Given the description of an element on the screen output the (x, y) to click on. 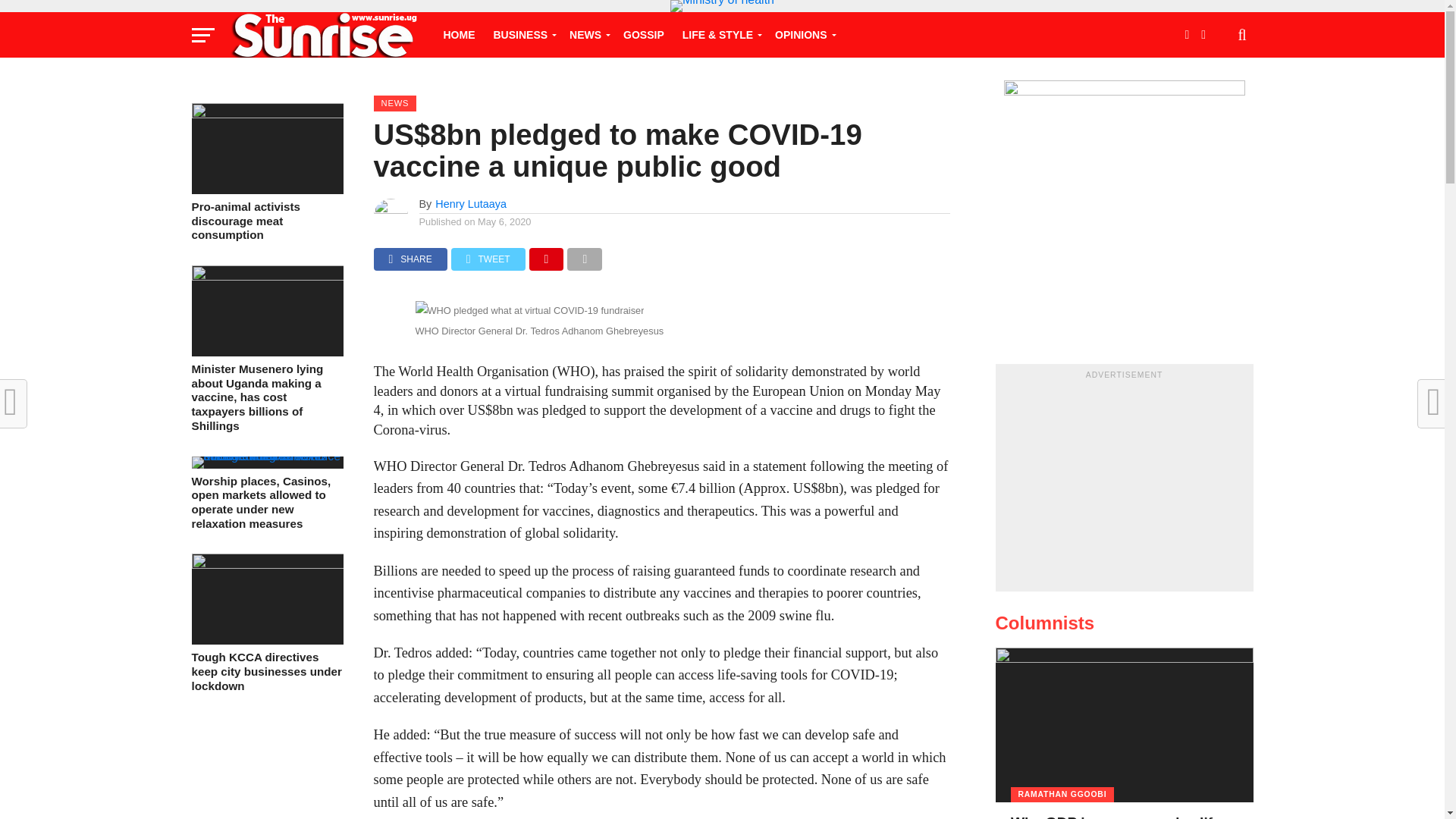
OPINIONS (802, 34)
HOME (458, 34)
BUSINESS (521, 34)
Posts by Henry Lutaaya (470, 203)
Tough KCCA directives keep city businesses under lockdown (266, 563)
GOSSIP (643, 34)
NEWS (587, 34)
Pro-animal activists discourage meat consumption (266, 113)
